Given the description of an element on the screen output the (x, y) to click on. 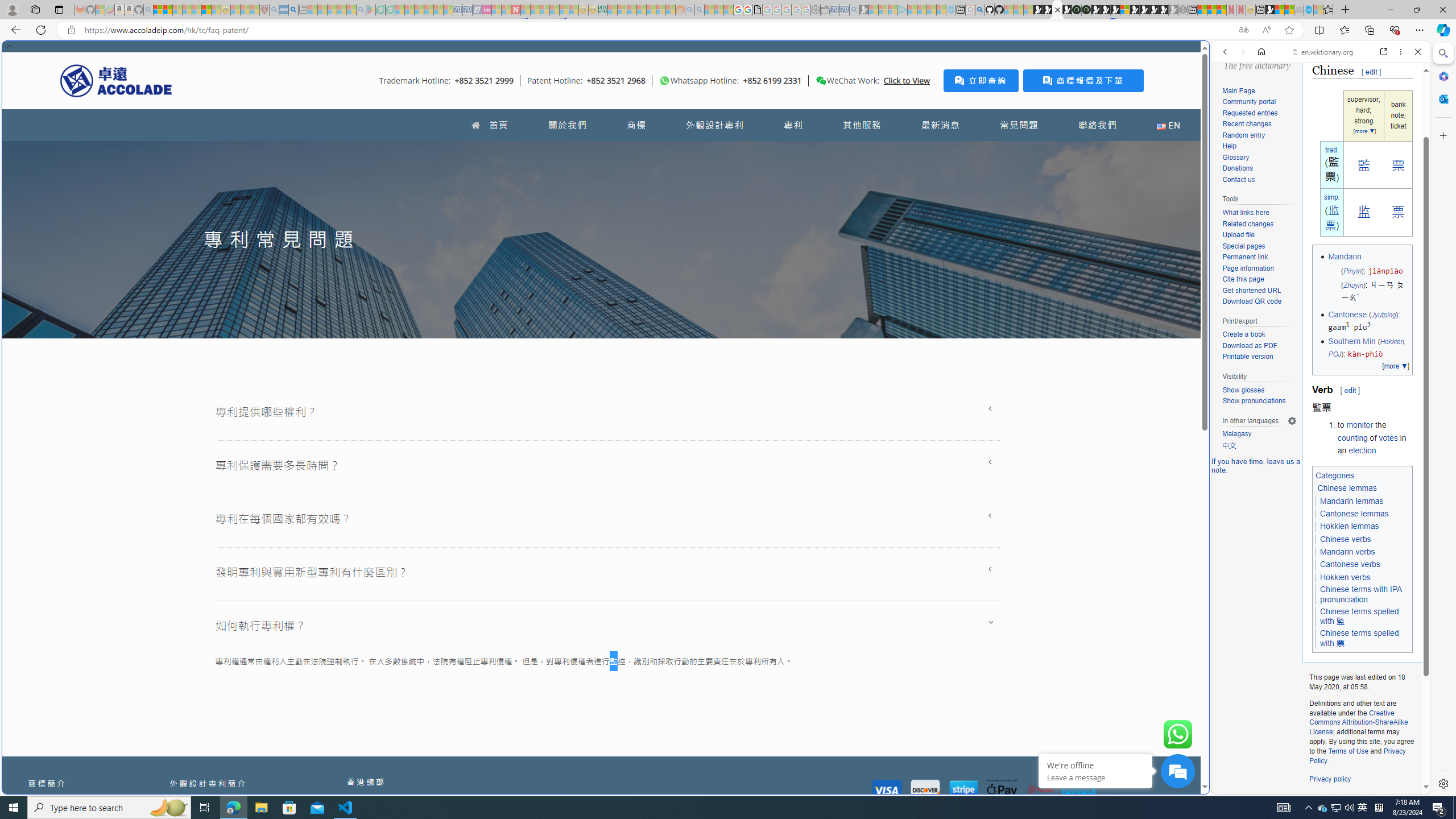
bank note; ticket (1397, 115)
Download QR code (1251, 301)
Chinese lemmas (1347, 488)
Special pages (1259, 246)
Community portal (1248, 101)
